Given the description of an element on the screen output the (x, y) to click on. 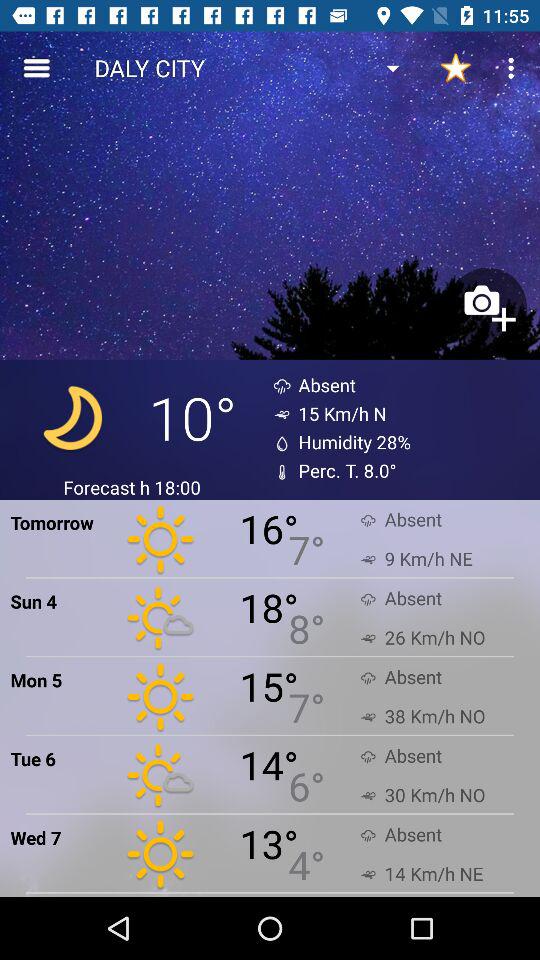
open camera (487, 306)
